Given the description of an element on the screen output the (x, y) to click on. 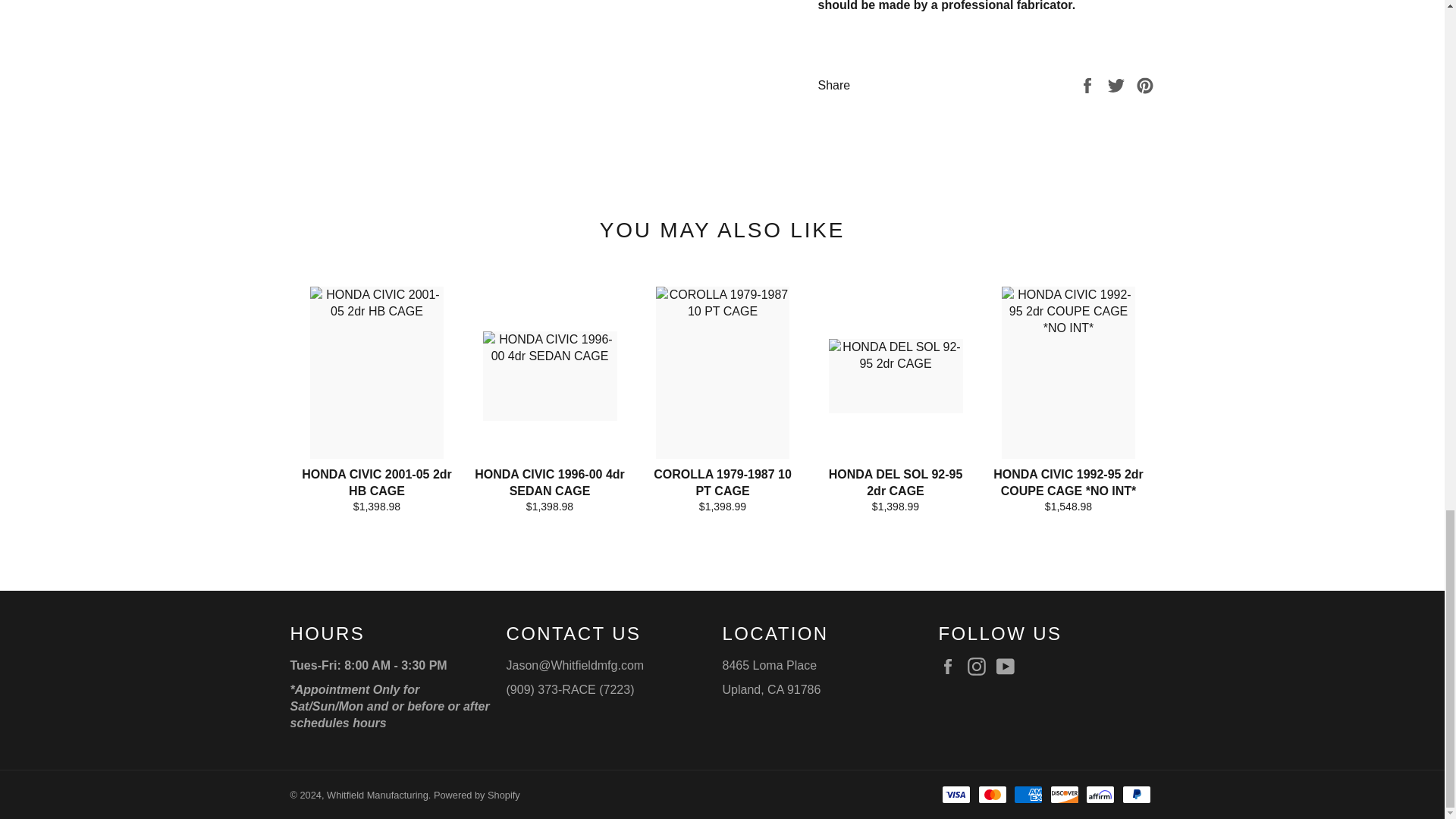
Whitfield Manufacturing on Instagram (980, 666)
Pin on Pinterest (1144, 83)
Whitfield Manufacturing on Facebook (951, 666)
Share on Facebook (1088, 83)
Whitfield Manufacturing on YouTube (1008, 666)
Tweet on Twitter (1117, 83)
